Given the description of an element on the screen output the (x, y) to click on. 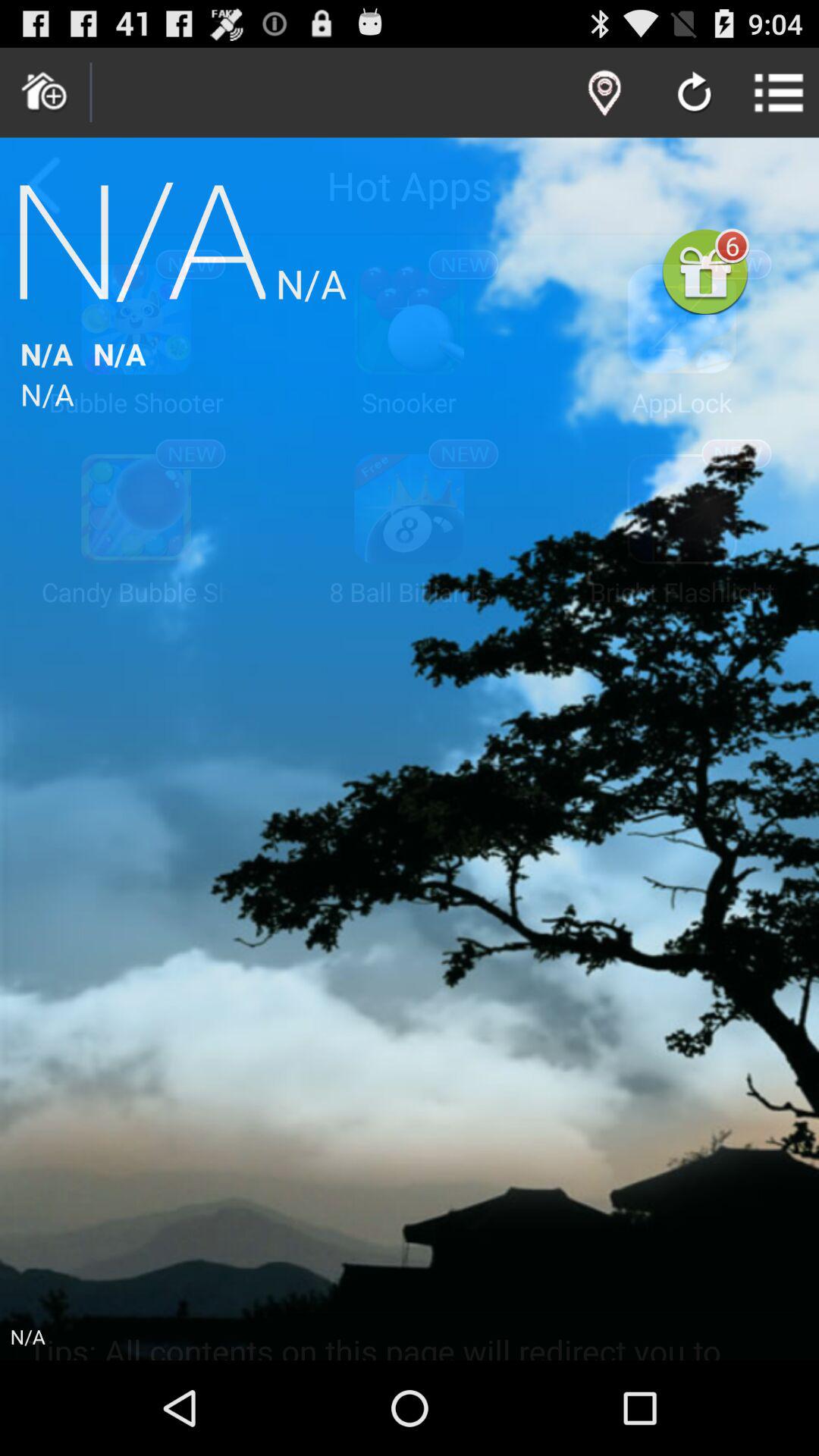
refresh weather information (694, 94)
